Given the description of an element on the screen output the (x, y) to click on. 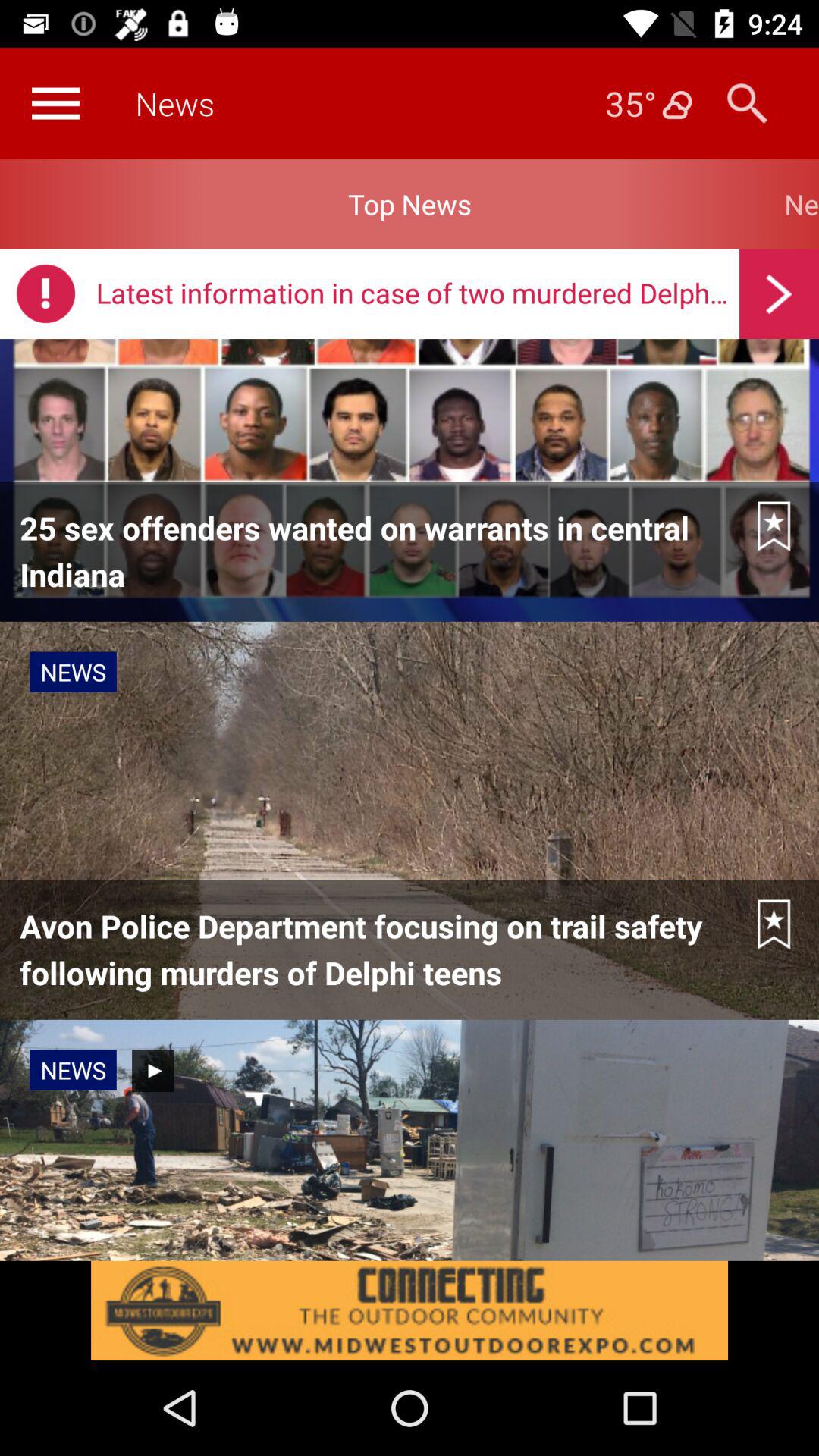
go to advertisement website (409, 1310)
